Given the description of an element on the screen output the (x, y) to click on. 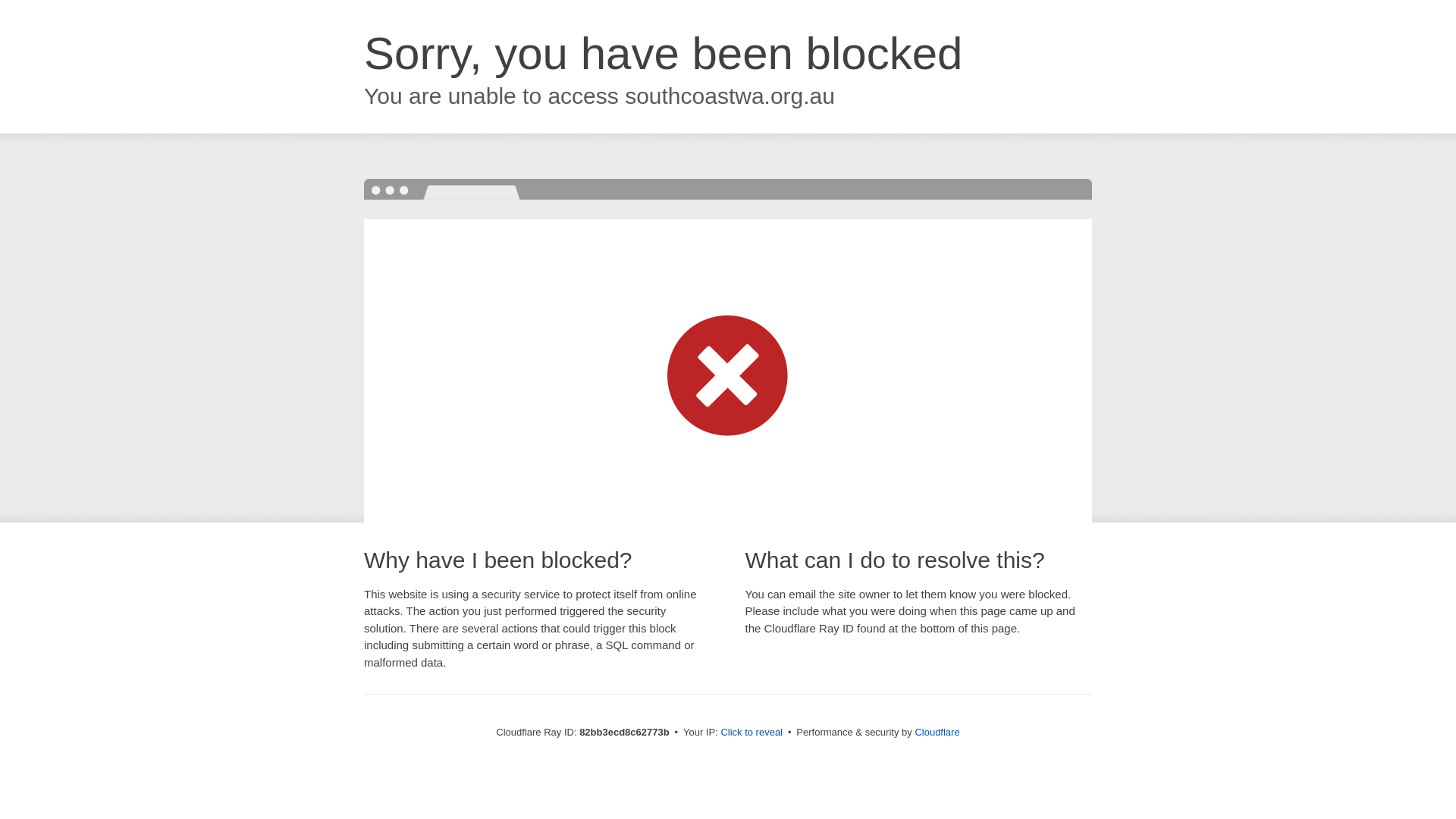
Click to reveal Element type: text (751, 732)
Cloudflare Element type: text (936, 731)
